Given the description of an element on the screen output the (x, y) to click on. 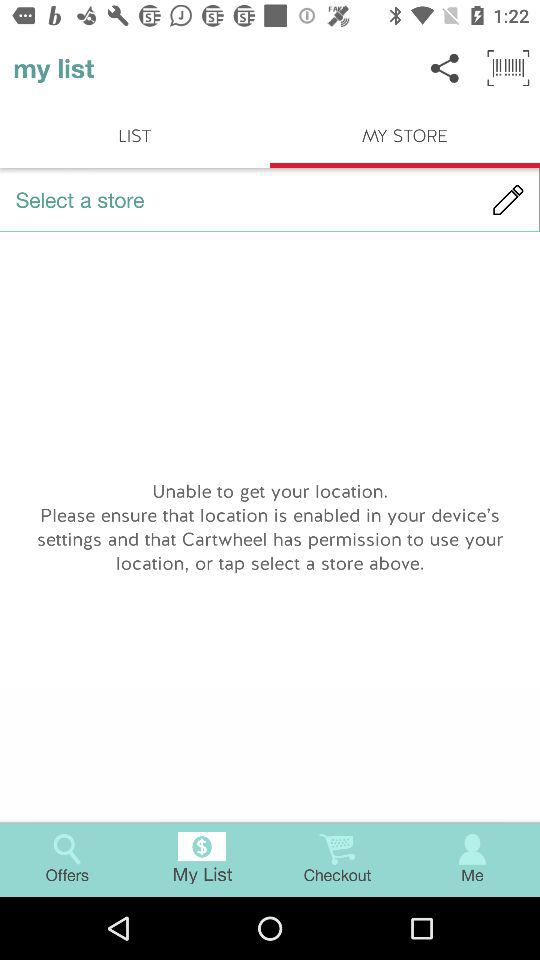
turn off the item to the right of my list (444, 67)
